Given the description of an element on the screen output the (x, y) to click on. 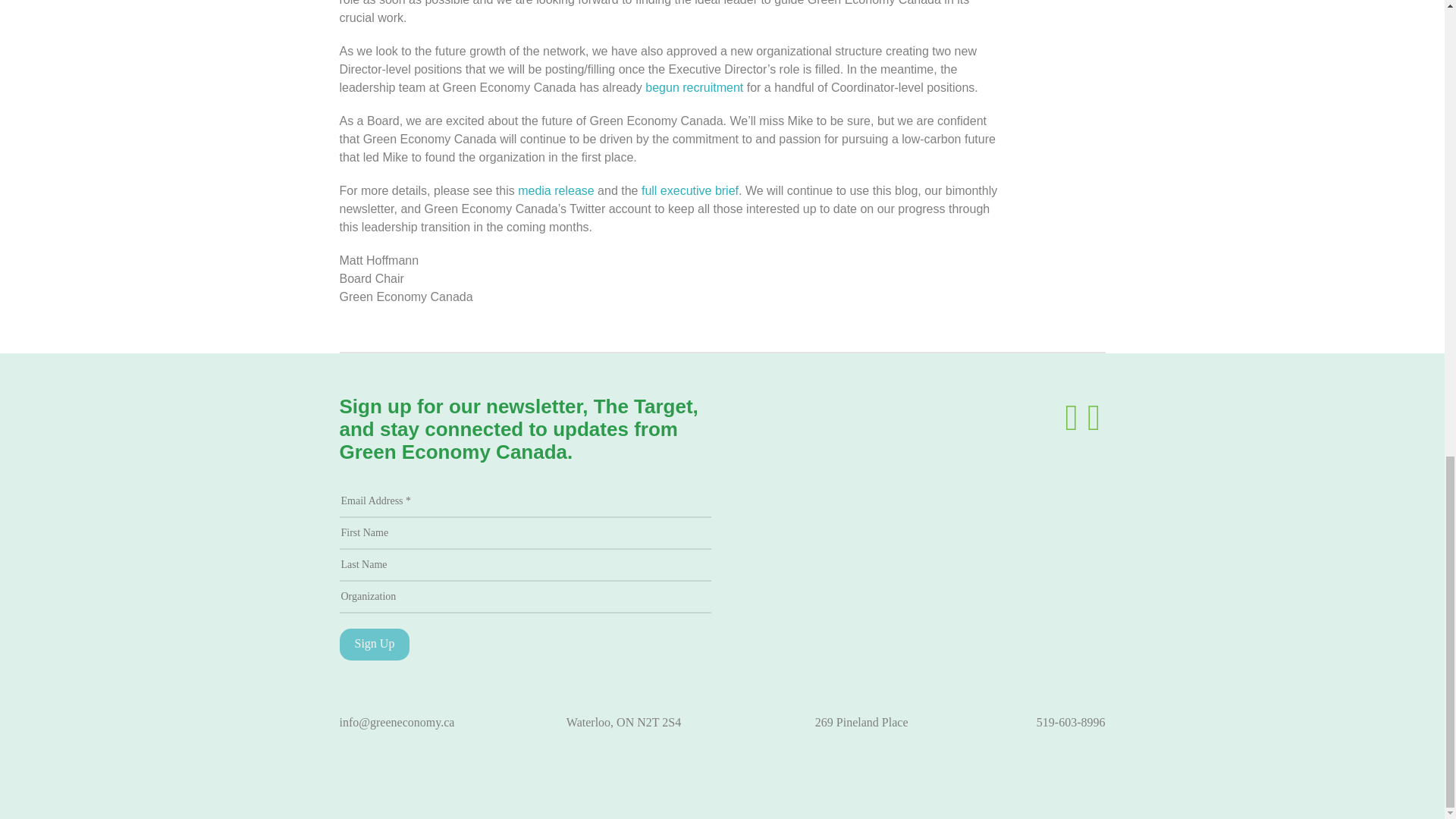
Sign Up (374, 644)
